Given the description of an element on the screen output the (x, y) to click on. 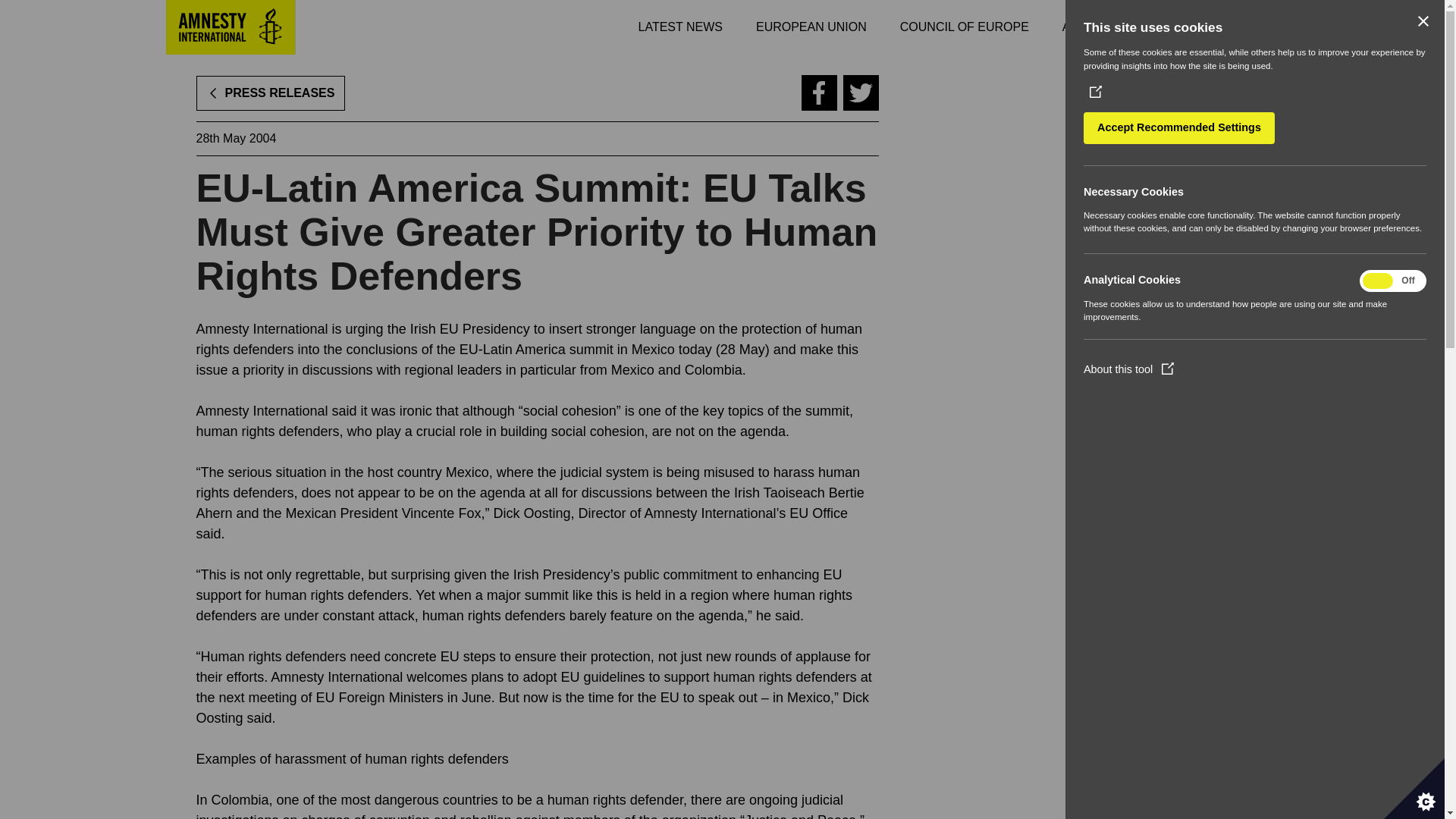
Share on Facebook (817, 92)
Share on Twitter (861, 92)
CONTACT (1185, 27)
ABOUT US (1093, 27)
LATEST NEWS (680, 27)
EUROPEAN UNION (811, 27)
COUNCIL OF EUROPE (964, 27)
PRESS RELEASES (270, 93)
